Given the description of an element on the screen output the (x, y) to click on. 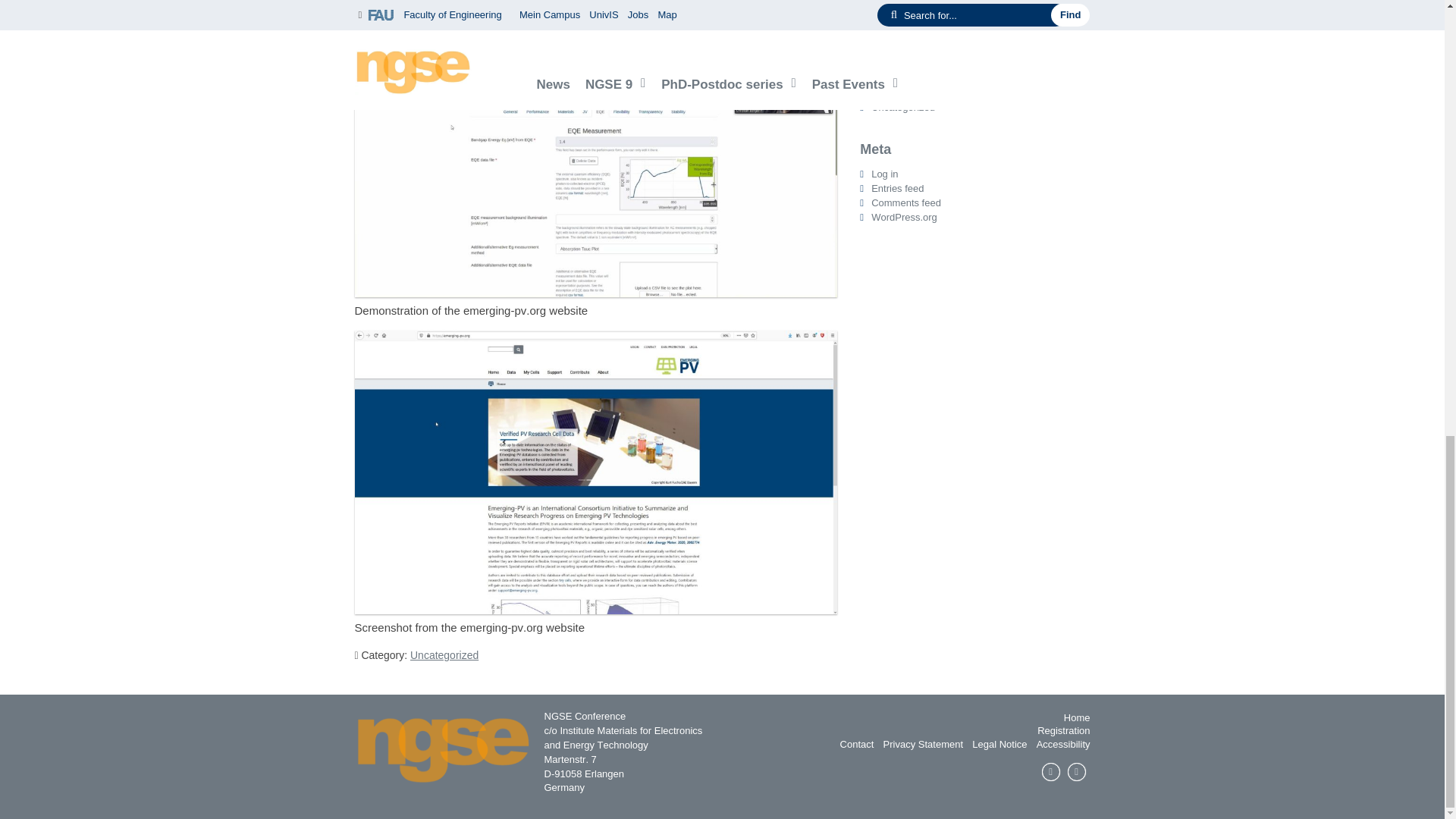
Uncategorized (444, 654)
